Given the description of an element on the screen output the (x, y) to click on. 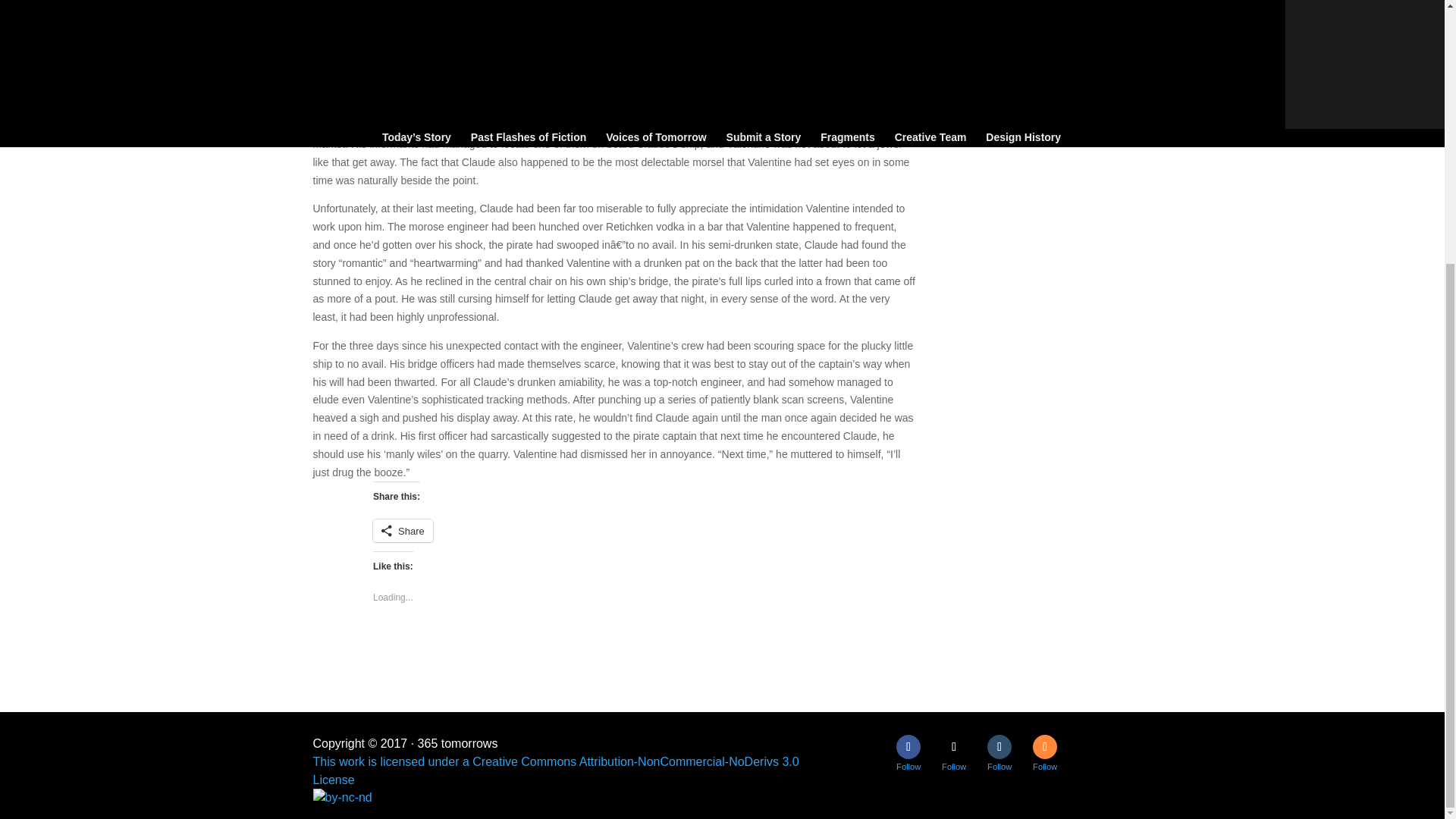
Follow on Twitter (954, 746)
Follow (999, 746)
Follow (1044, 746)
Operation Tinker Bell (1028, 50)
Follow on Facebook (908, 746)
Share (402, 530)
Follow on tumblr (999, 746)
Follow on RSS (1044, 746)
Follow (954, 746)
